Given the description of an element on the screen output the (x, y) to click on. 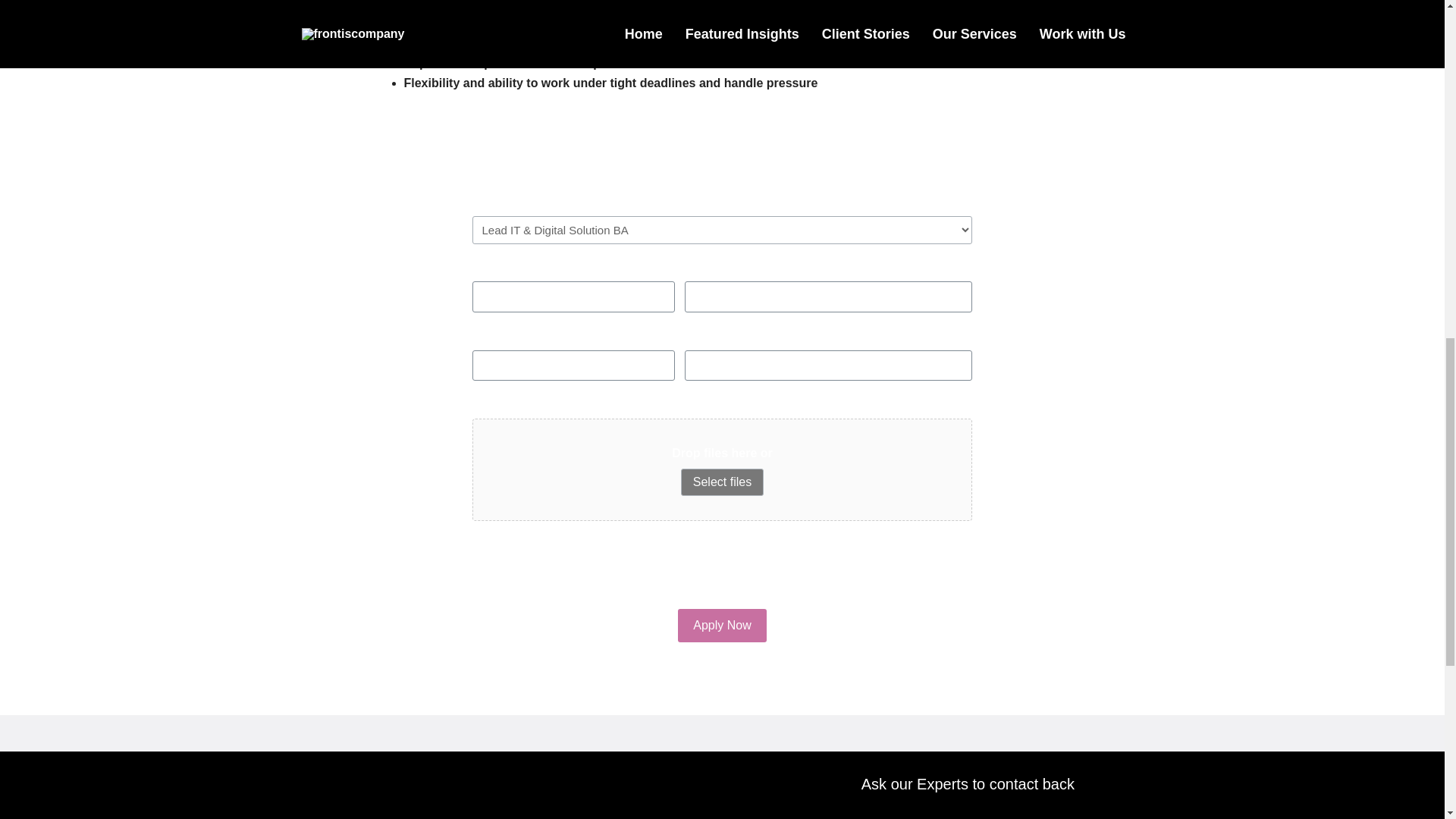
Apply Now (721, 625)
Apply Now (721, 625)
Select files (721, 482)
